Given the description of an element on the screen output the (x, y) to click on. 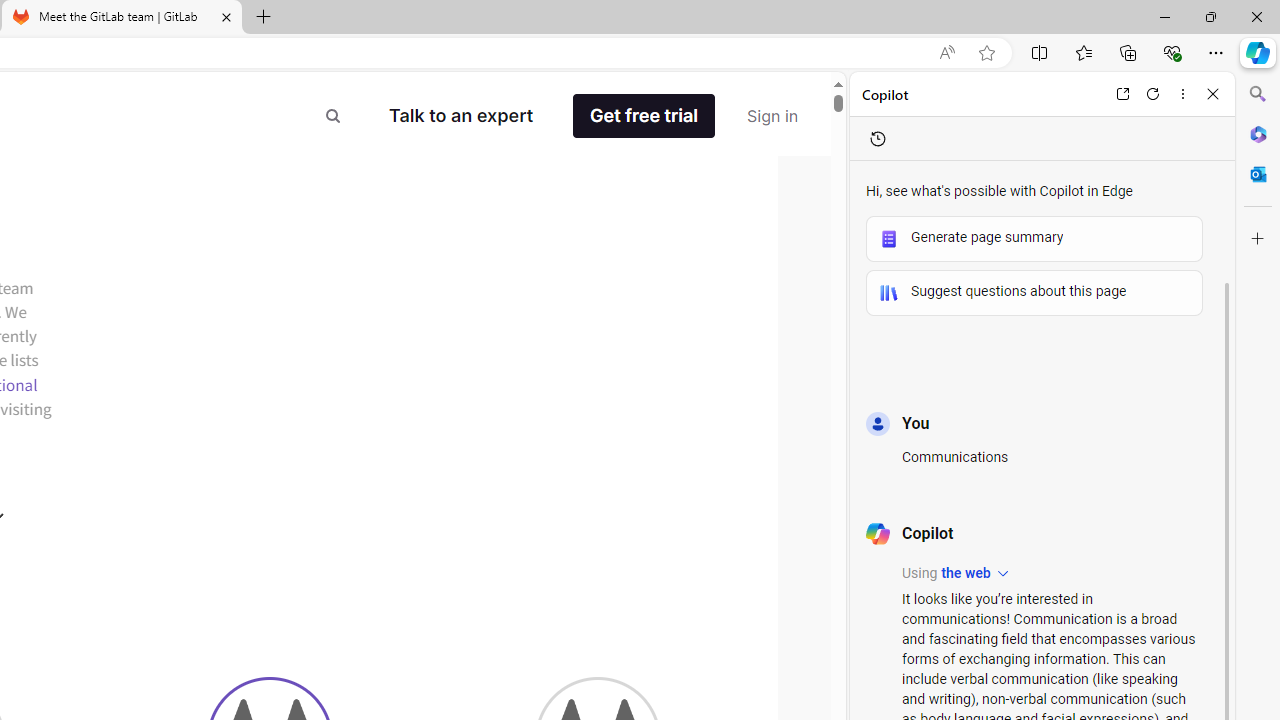
Get free trial (644, 116)
